Given the description of an element on the screen output the (x, y) to click on. 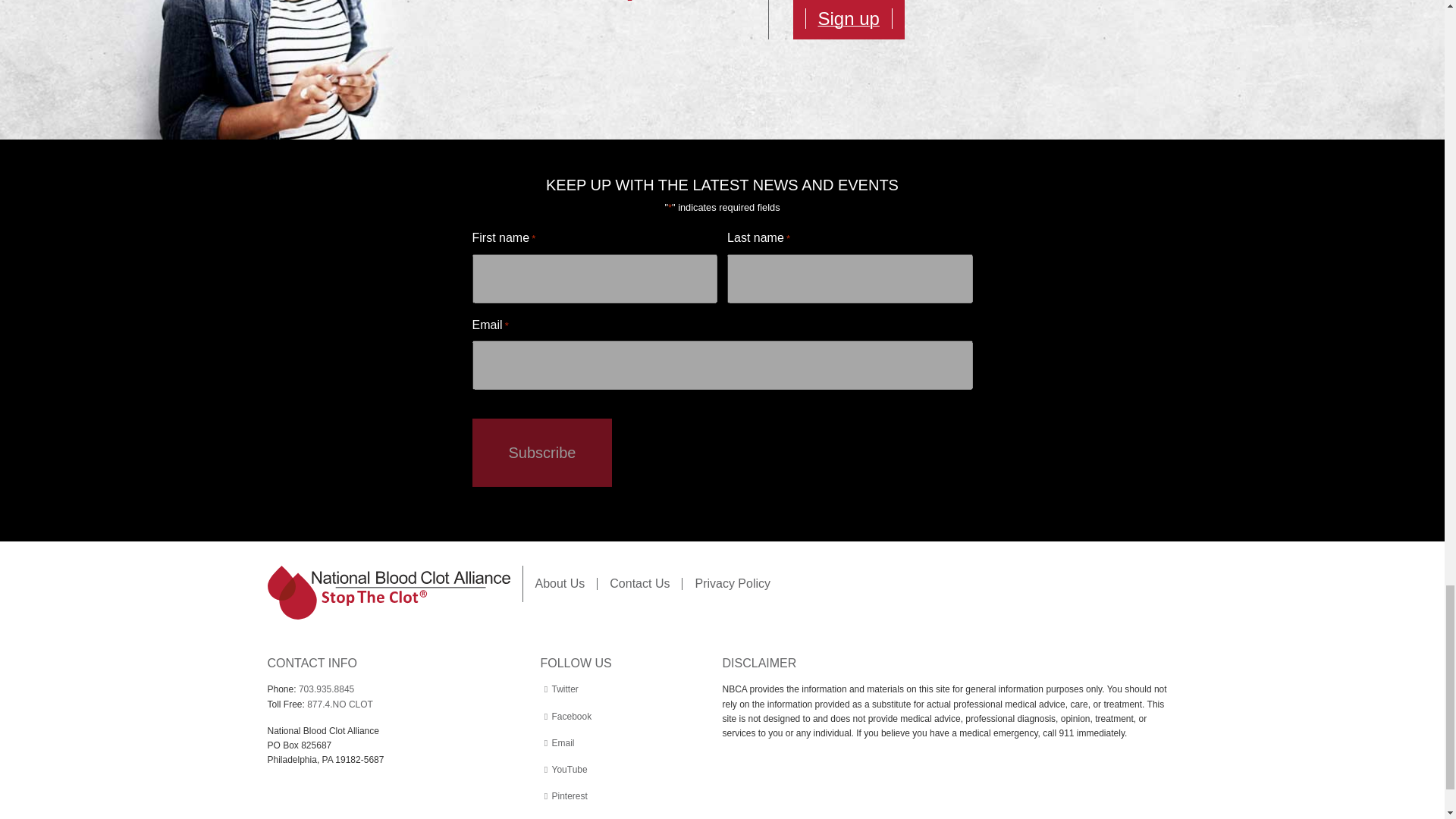
Subscribe (541, 452)
